Given the description of an element on the screen output the (x, y) to click on. 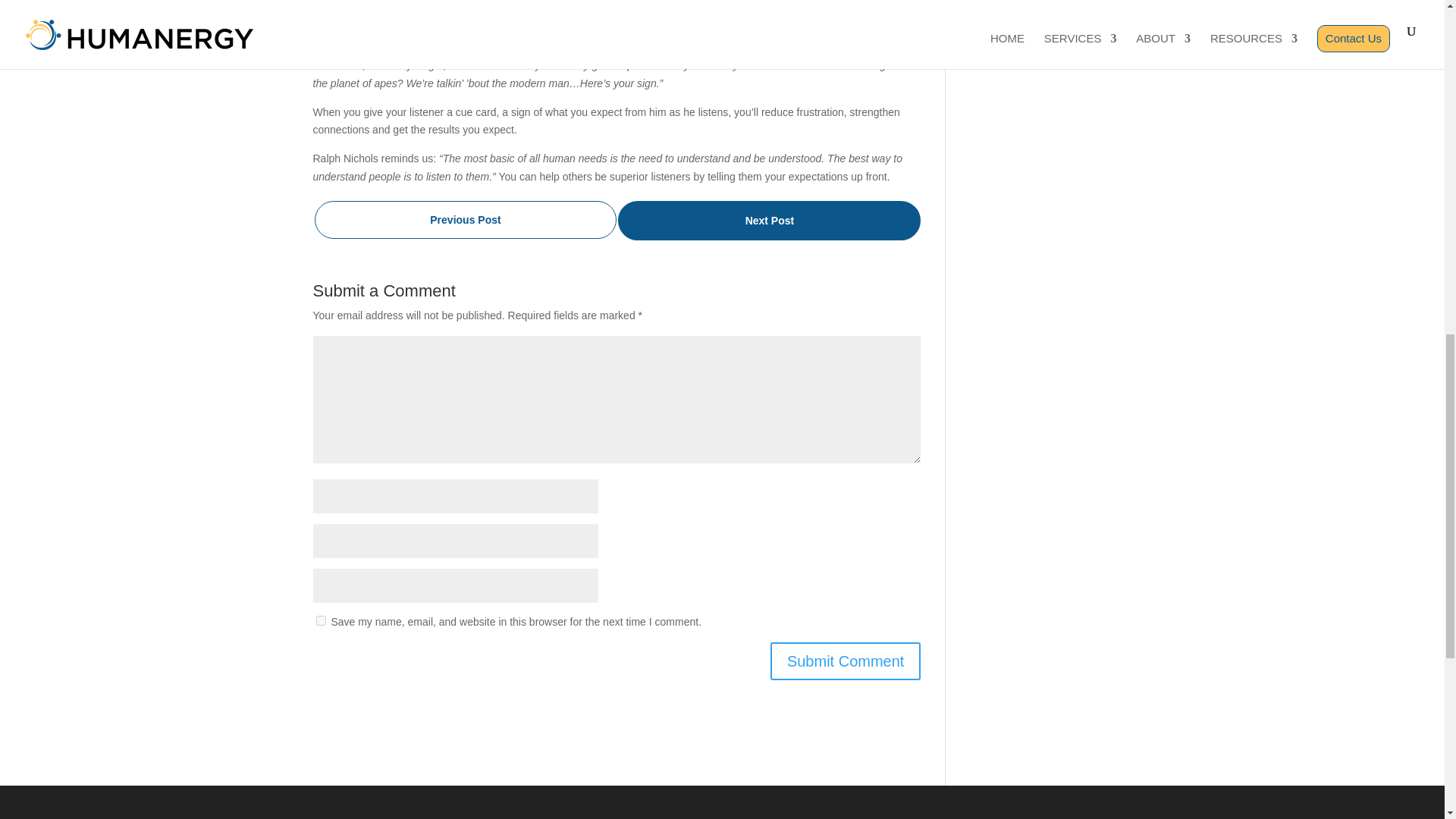
Rituals at work (465, 219)
Submit Comment (845, 661)
yes (319, 620)
Do you make too many decisions? (768, 220)
